Given the description of an element on the screen output the (x, y) to click on. 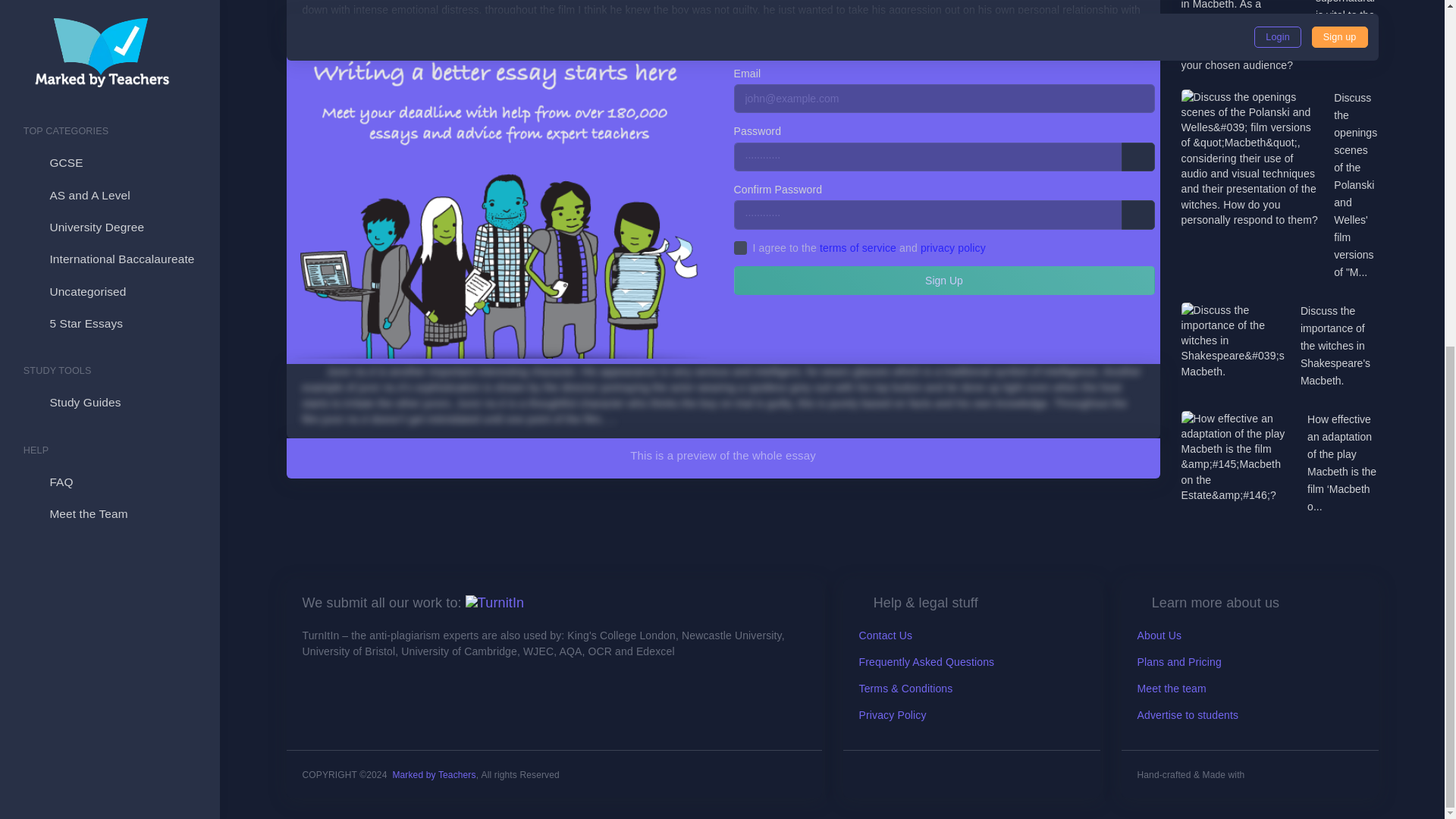
privacy policy (952, 246)
About Us (1159, 635)
Marked by Teachers (433, 774)
terms of service (857, 246)
Contact Us (885, 635)
on (740, 247)
Frequently Asked Questions (926, 662)
Privacy Policy (892, 715)
Sign Up (943, 280)
